Given the description of an element on the screen output the (x, y) to click on. 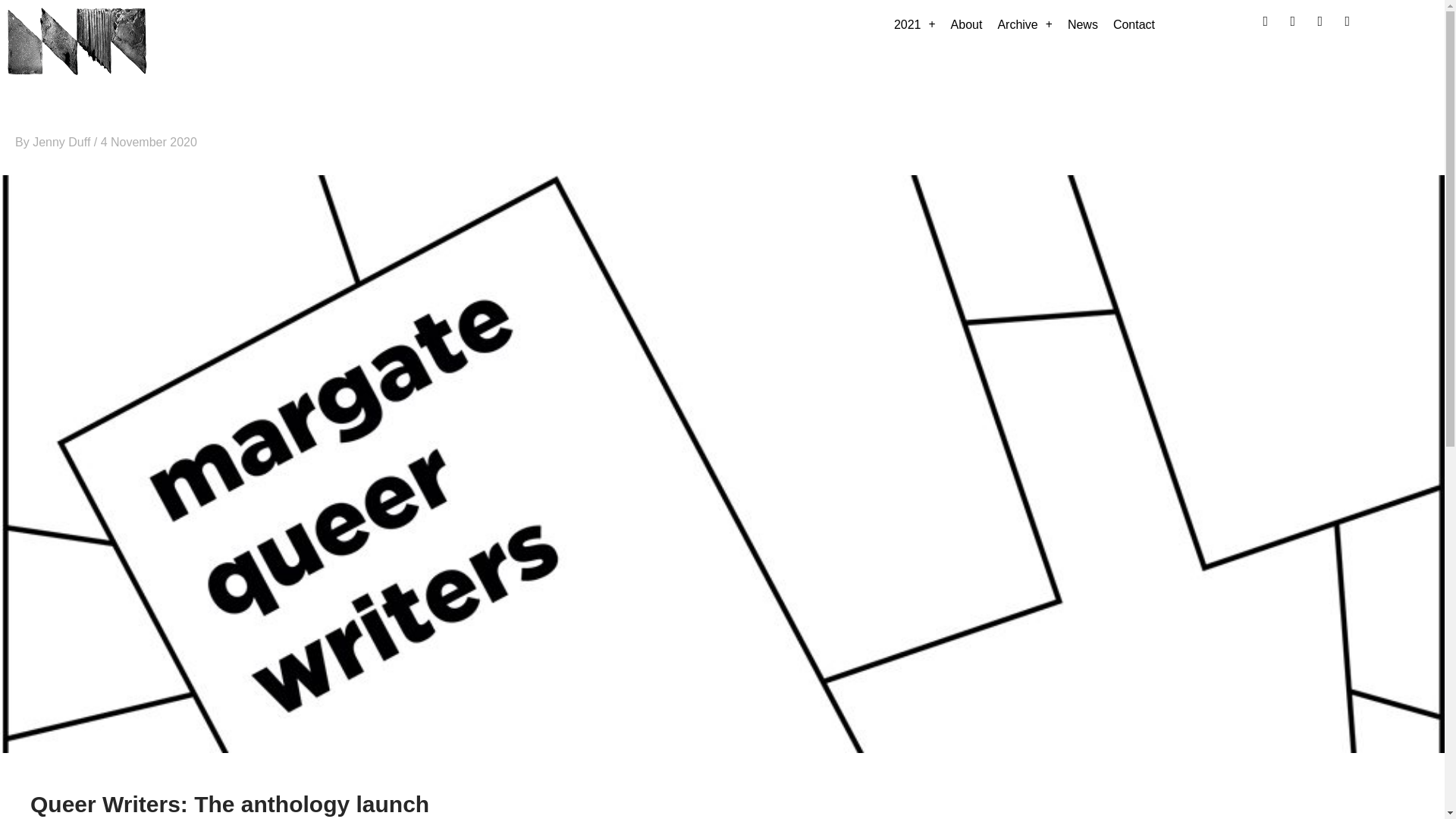
About (966, 24)
News (1082, 24)
2021 (914, 24)
View all posts by Jenny Duff (63, 141)
Contact (1133, 24)
Archive (1024, 24)
